Given the description of an element on the screen output the (x, y) to click on. 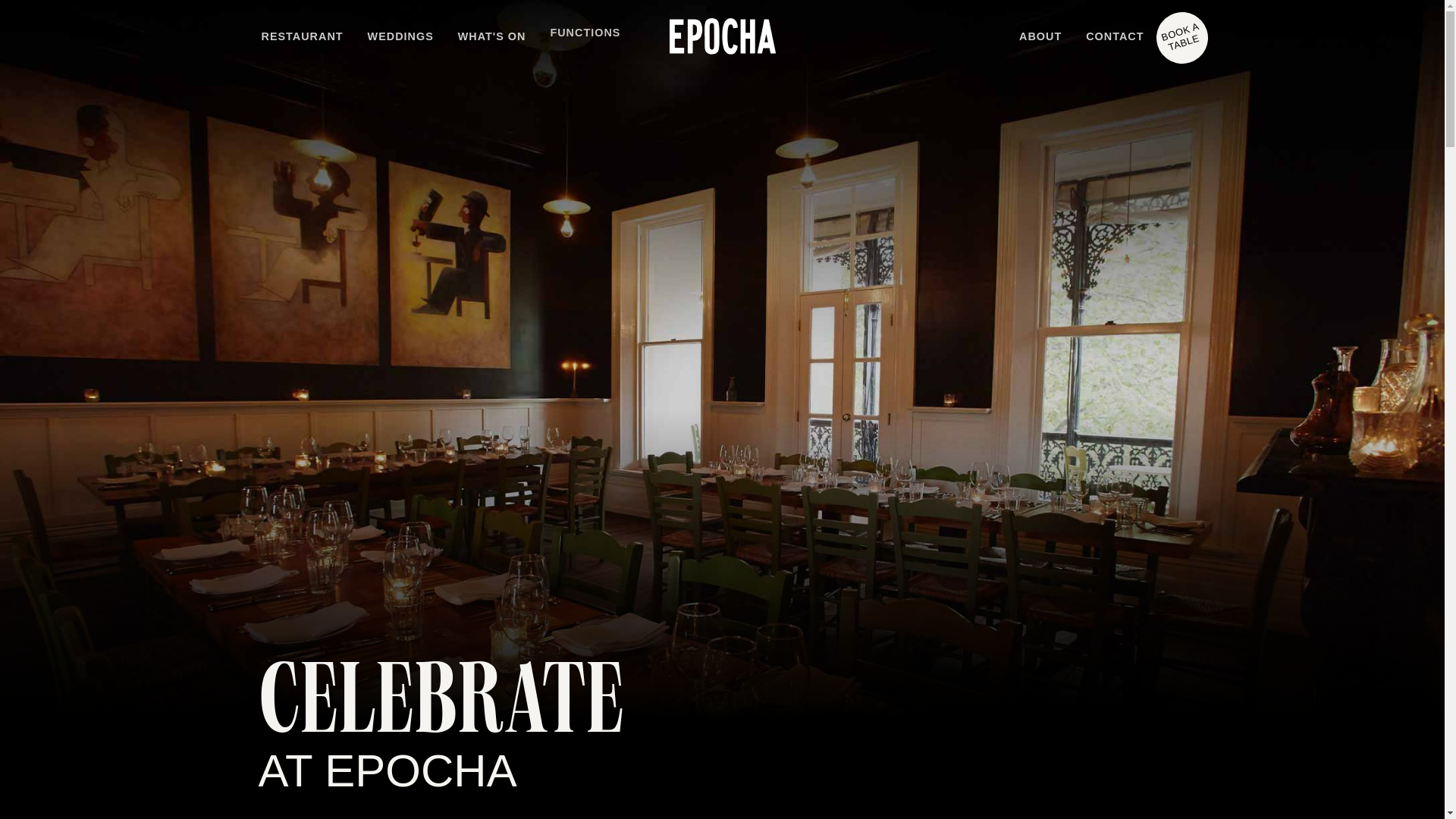
BOOK A TABLE Element type: text (1175, 30)
RESTAURANT Element type: text (301, 37)
WHAT'S ON Element type: text (492, 37)
CONTACT Element type: text (1114, 37)
ABOUT Element type: text (1040, 37)
WEDDINGS Element type: text (400, 37)
